Given the description of an element on the screen output the (x, y) to click on. 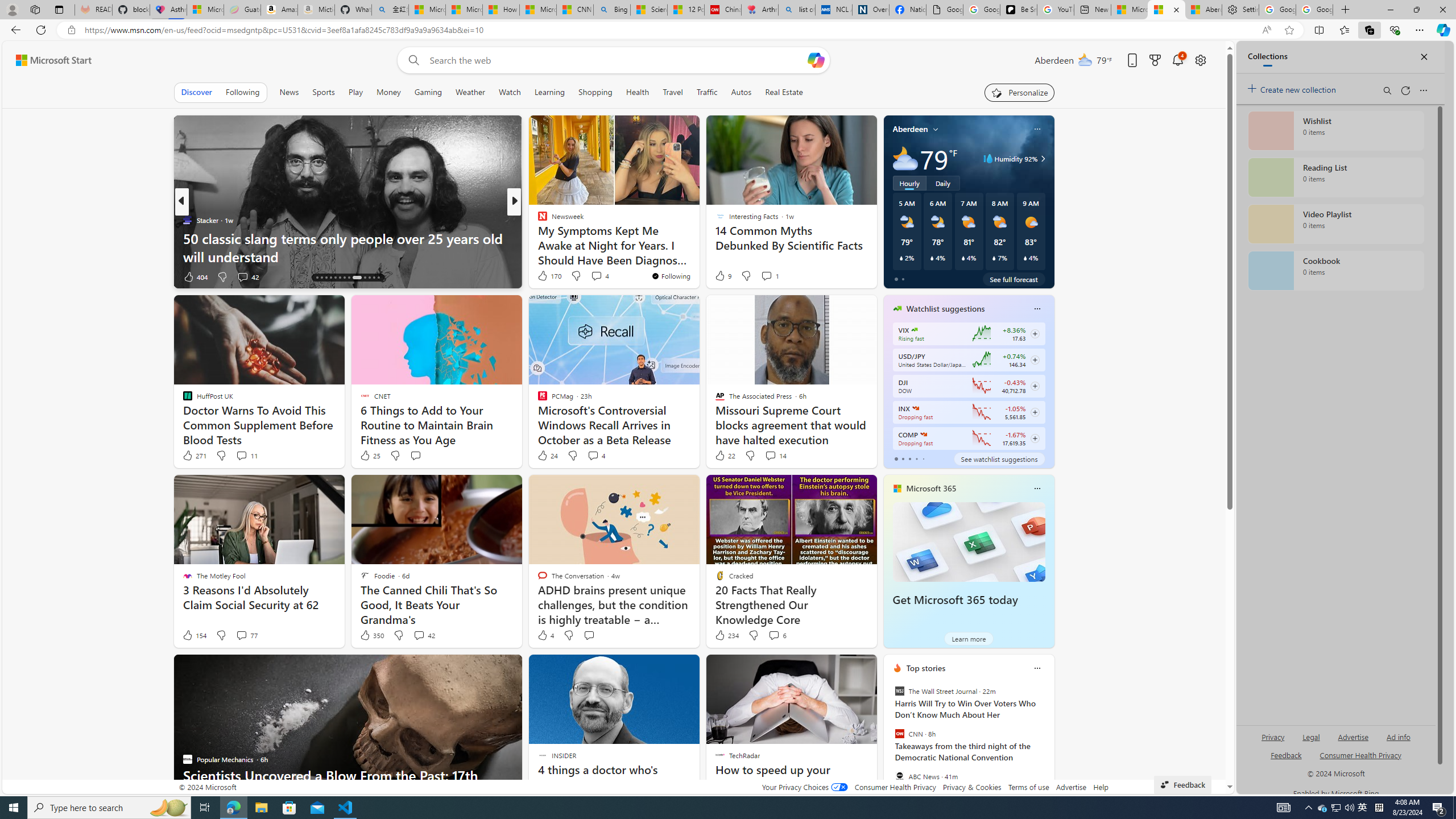
Watchlist suggestions (945, 308)
Aberdeen (910, 128)
22 Like (724, 455)
You're following Newsweek (670, 275)
9 Like (722, 275)
